Given the description of an element on the screen output the (x, y) to click on. 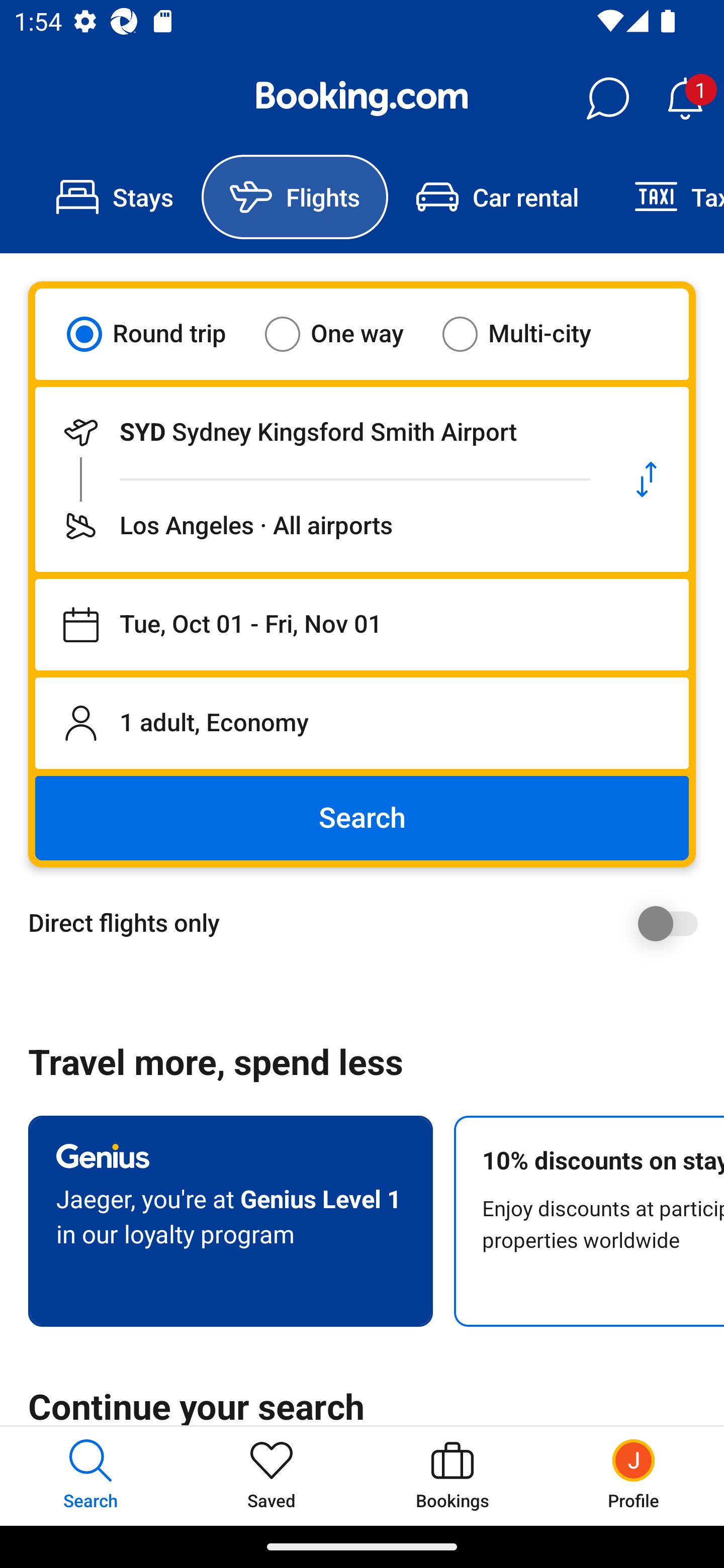
Messages (607, 98)
Notifications (685, 98)
Stays (114, 197)
Flights (294, 197)
Car rental (497, 197)
Taxi (665, 197)
One way (346, 333)
Multi-city (528, 333)
Departing from SYD Sydney Kingsford Smith Airport (319, 432)
Swap departure location and destination (646, 479)
Flying to Los Angeles · All airports (319, 525)
Departing on Tue, Oct 01, returning on Fri, Nov 01 (361, 624)
1 adult, Economy (361, 722)
Search (361, 818)
Direct flights only (369, 923)
Saved (271, 1475)
Bookings (452, 1475)
Profile (633, 1475)
